Given the description of an element on the screen output the (x, y) to click on. 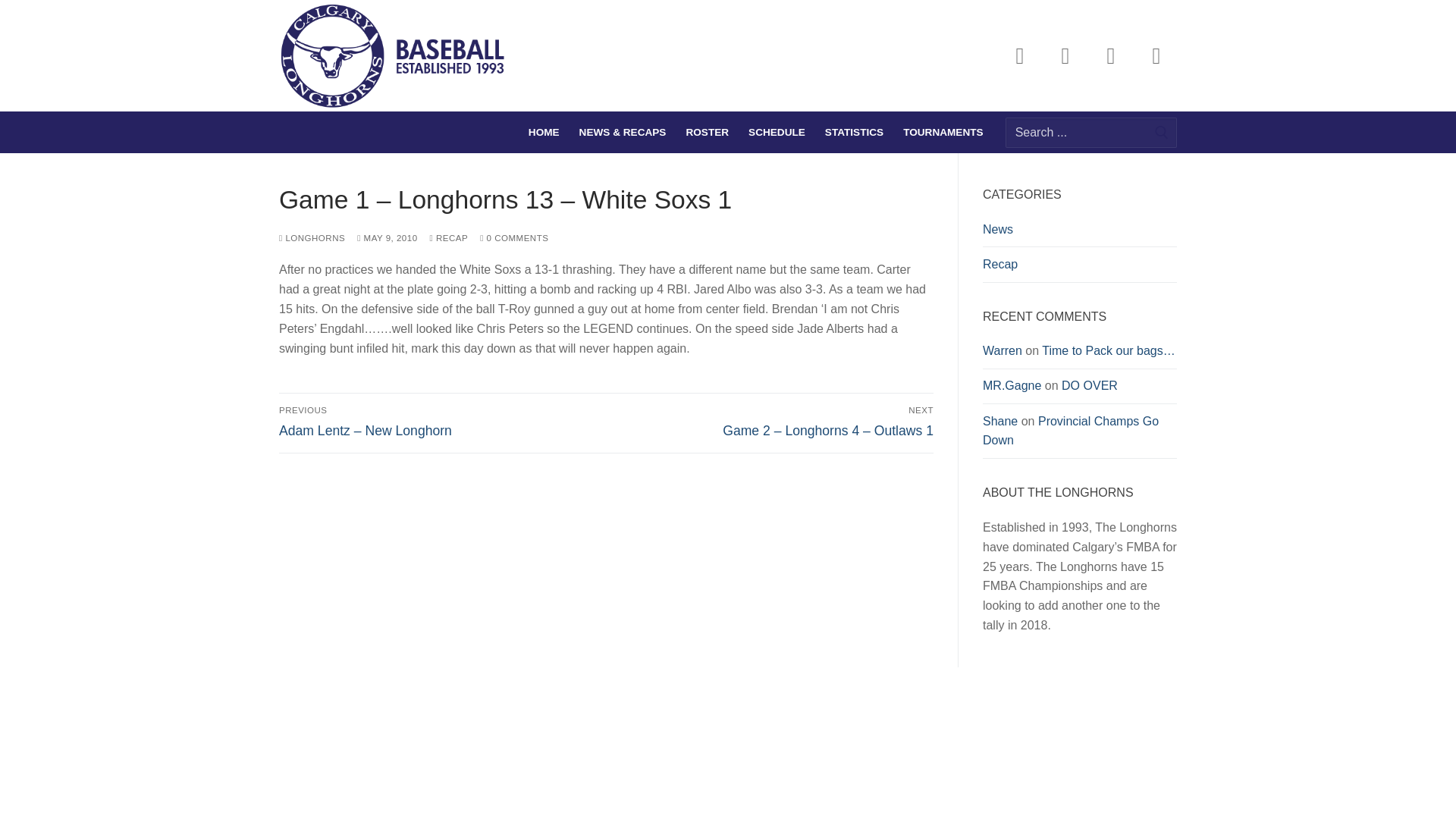
MAY 9, 2010 (386, 237)
HOME (543, 132)
STATISTICS (854, 132)
0 COMMENTS (514, 237)
Search for: (1091, 132)
RECAP (448, 237)
Twitter (1065, 56)
Recap (1079, 267)
TOURNAMENTS (942, 132)
News (1079, 233)
